Given the description of an element on the screen output the (x, y) to click on. 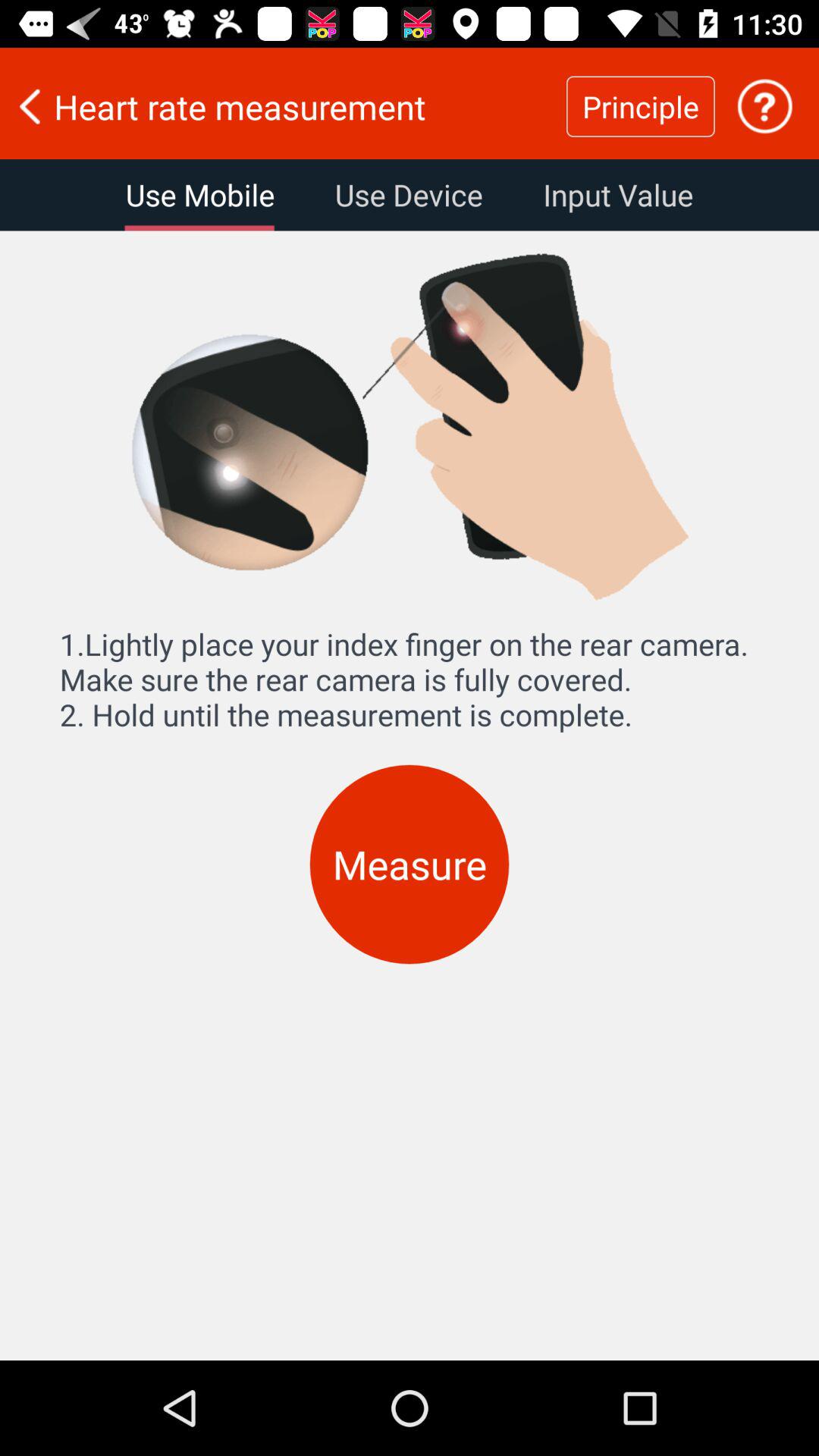
press use device (408, 194)
